Given the description of an element on the screen output the (x, y) to click on. 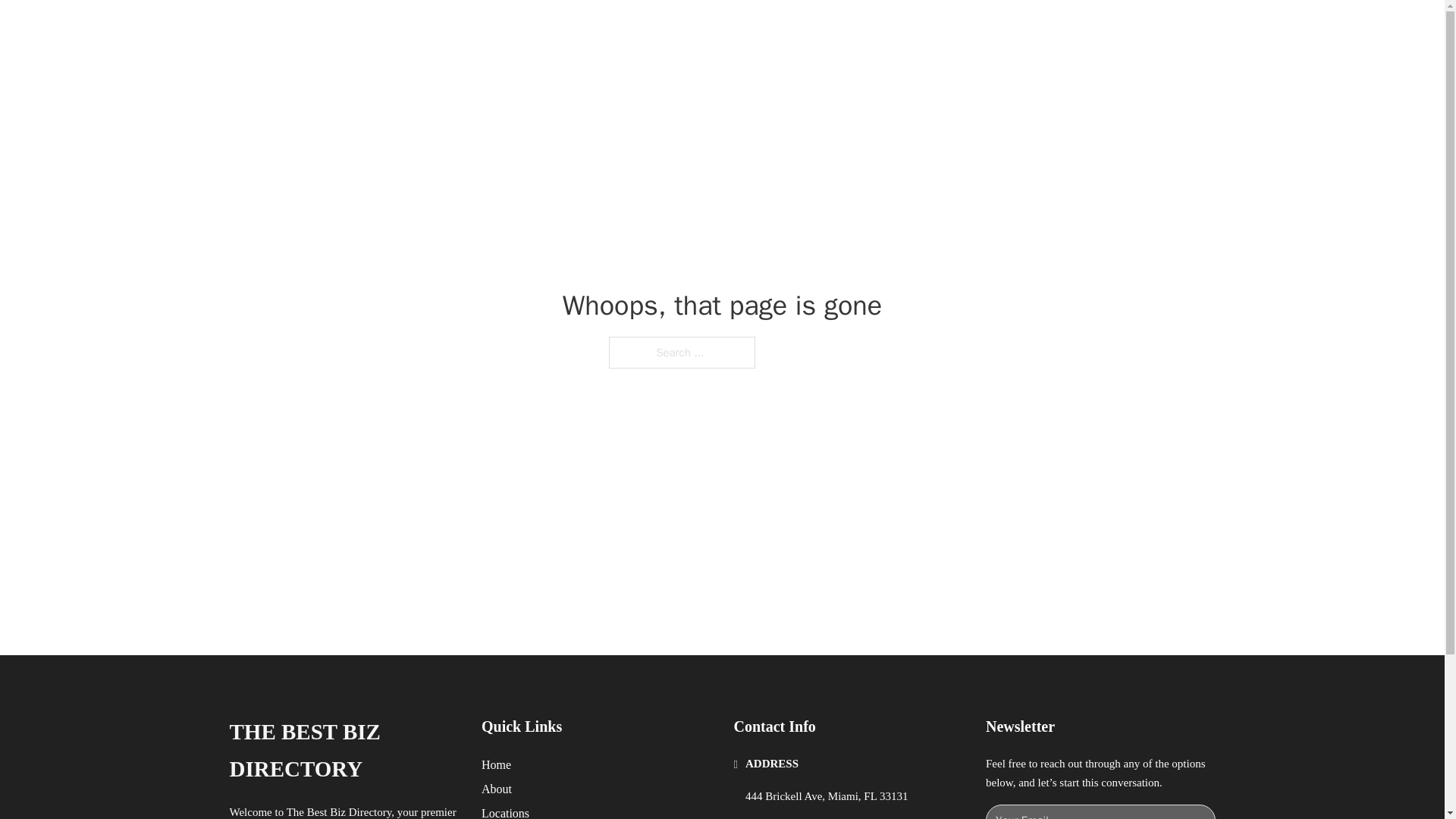
THE BEST BIZ DIRECTORY (343, 750)
About (496, 788)
Home (496, 764)
HOME (919, 29)
Locations (505, 811)
THE BEST BIZ DIRECTORY (436, 28)
LOCATIONS (990, 29)
